Given the description of an element on the screen output the (x, y) to click on. 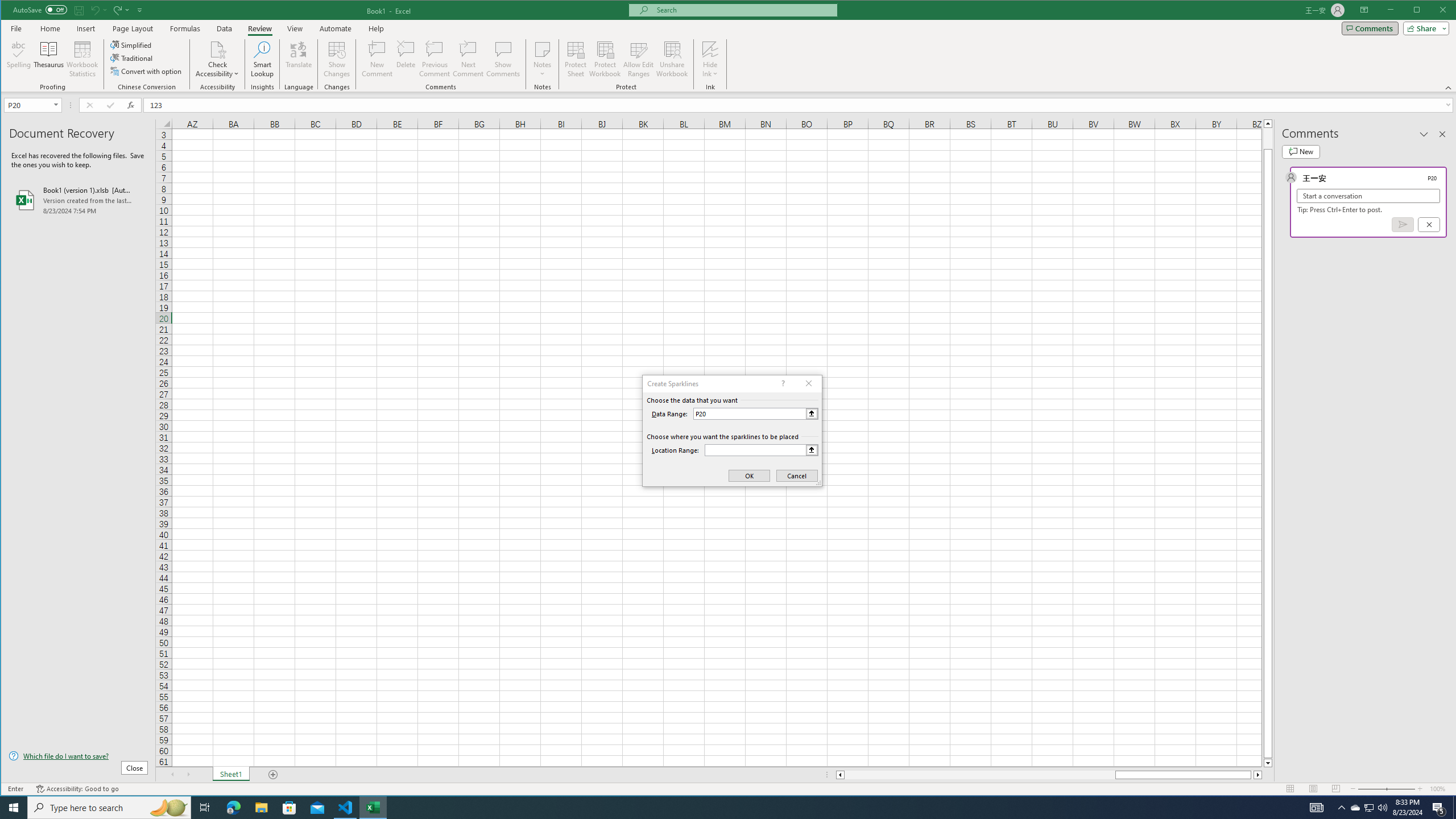
Spelling... (18, 59)
Open (56, 105)
Ribbon Display Options (1364, 9)
Unshare Workbook (671, 59)
Help (376, 28)
Microsoft search (742, 10)
Simplified (132, 44)
Convert with option (146, 70)
Check Accessibility (217, 59)
Protect Workbook... (604, 59)
Book1 (version 1).xlsb  [AutoRecovered] (78, 199)
Scroll Left (172, 774)
Page left (979, 774)
Line up (1267, 122)
